Given the description of an element on the screen output the (x, y) to click on. 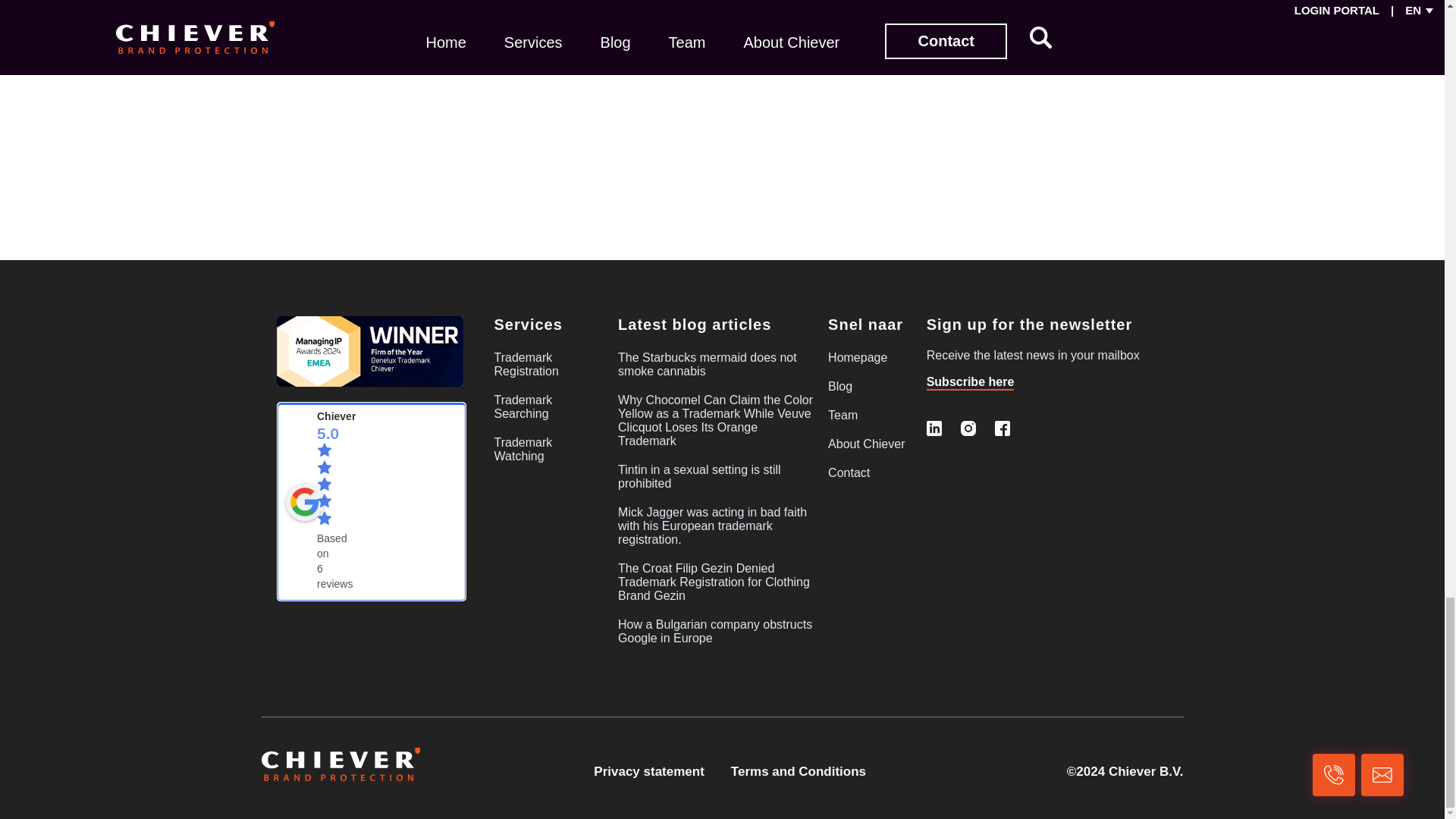
The Starbucks mermaid does not smoke cannabis (706, 364)
Chiever (336, 416)
Tintin in a sexual setting is still prohibited (698, 476)
Trademark Searching (524, 406)
Trademark Registration (527, 364)
Trademark Watching (524, 448)
Chiever (304, 501)
